Given the description of an element on the screen output the (x, y) to click on. 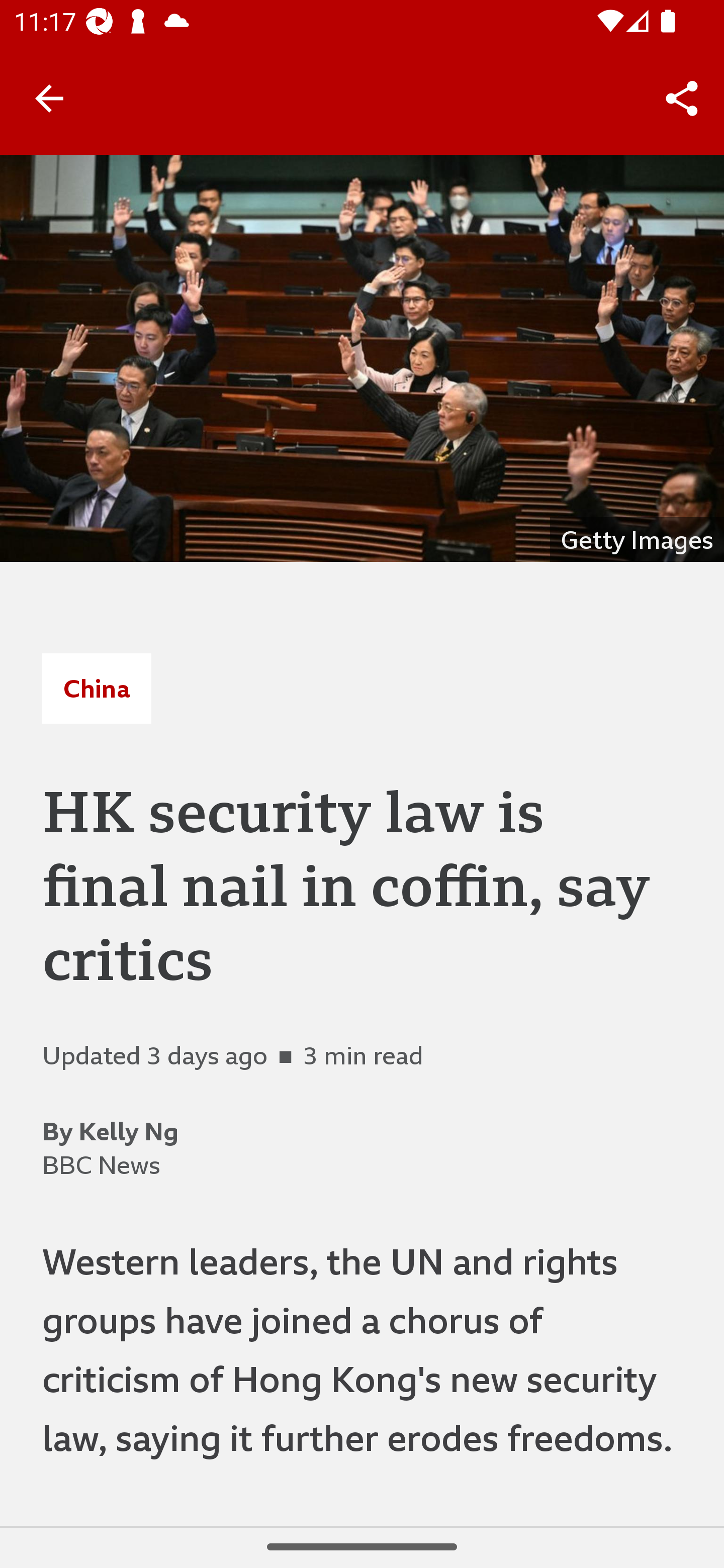
Back (49, 97)
Share (681, 98)
China (96, 688)
